Given the description of an element on the screen output the (x, y) to click on. 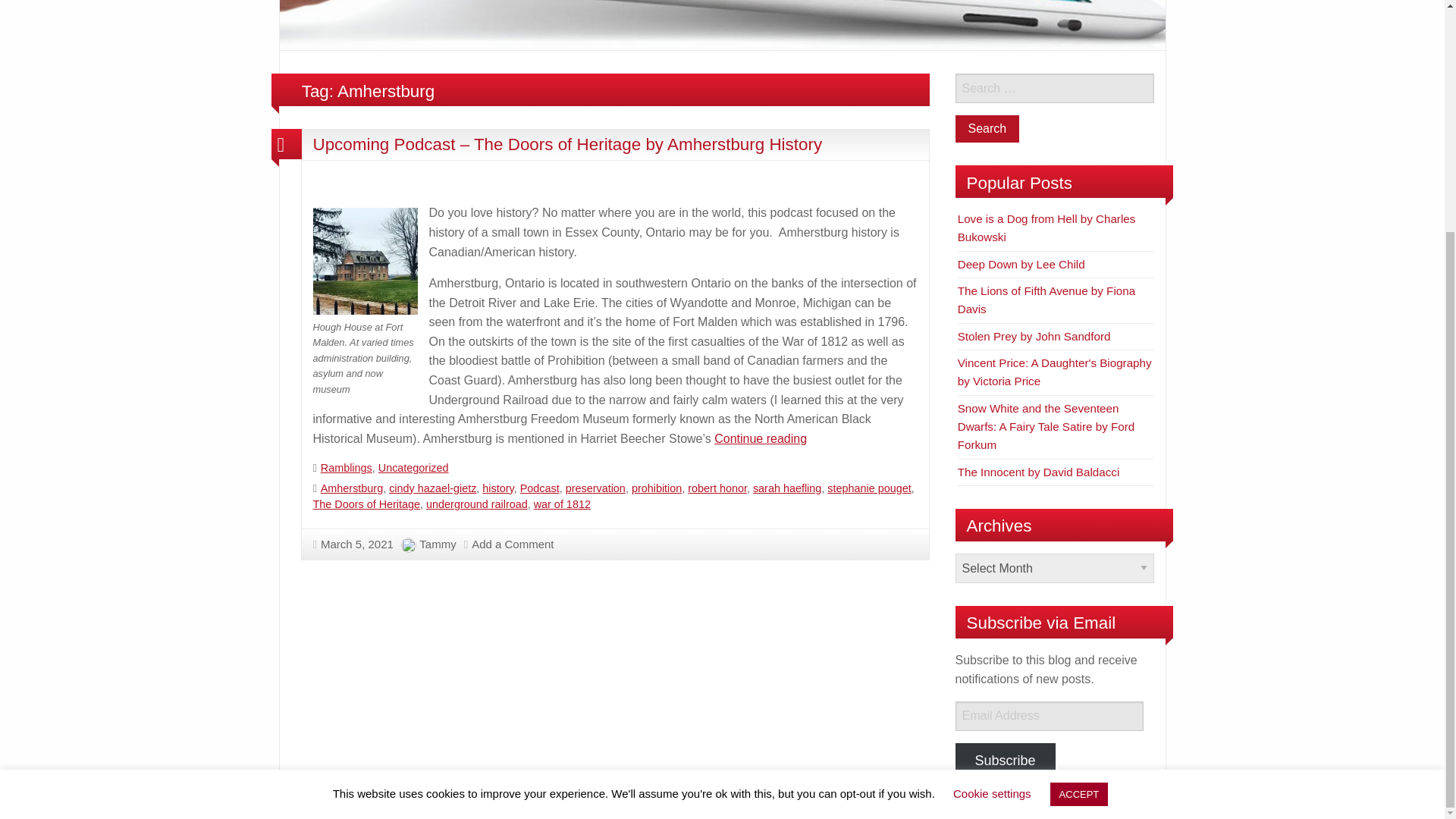
Search (987, 128)
Ramblings (346, 467)
Search (987, 128)
